Given the description of an element on the screen output the (x, y) to click on. 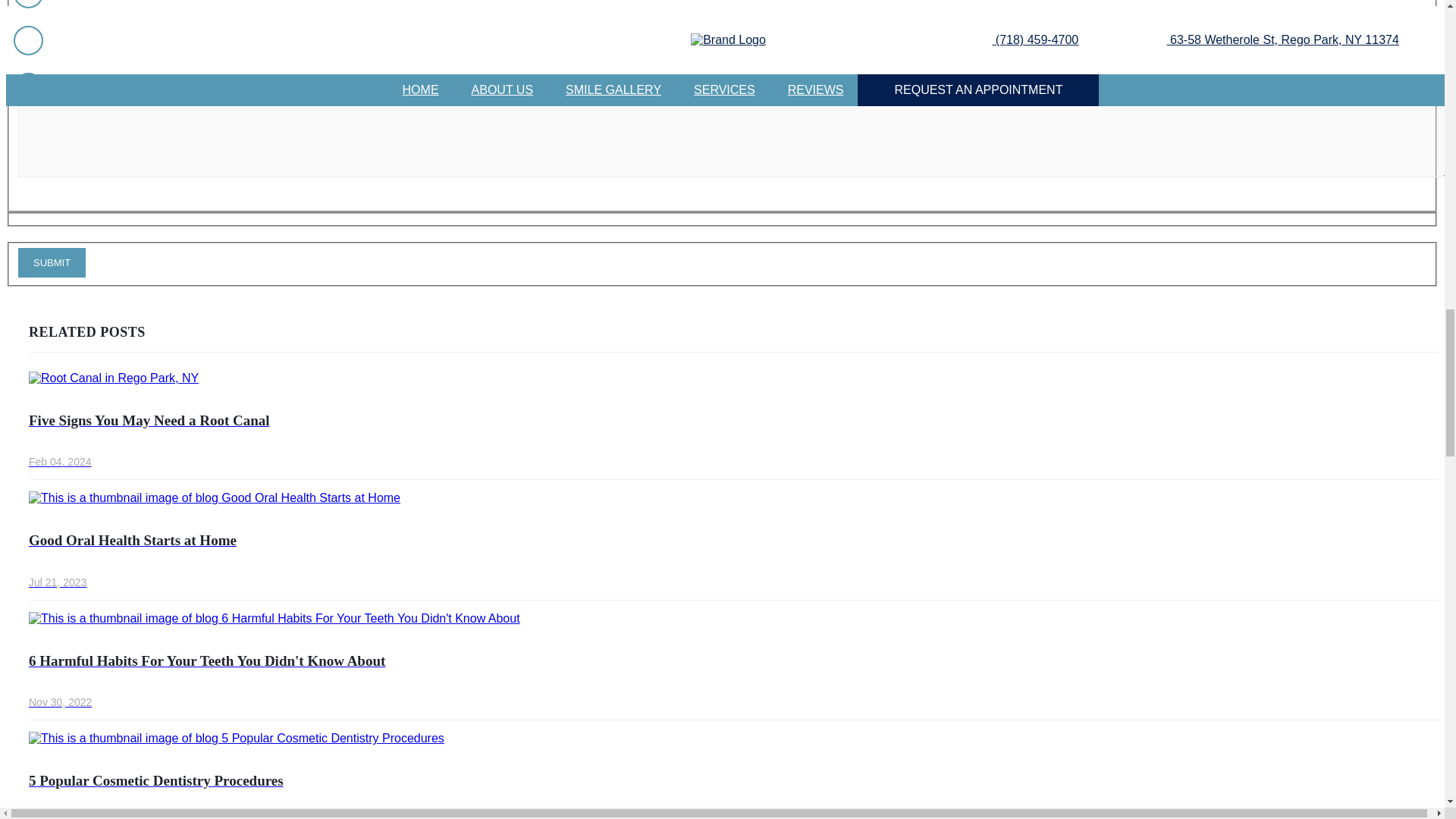
Root Canal in Rego Park, NY (113, 377)
